Given the description of an element on the screen output the (x, y) to click on. 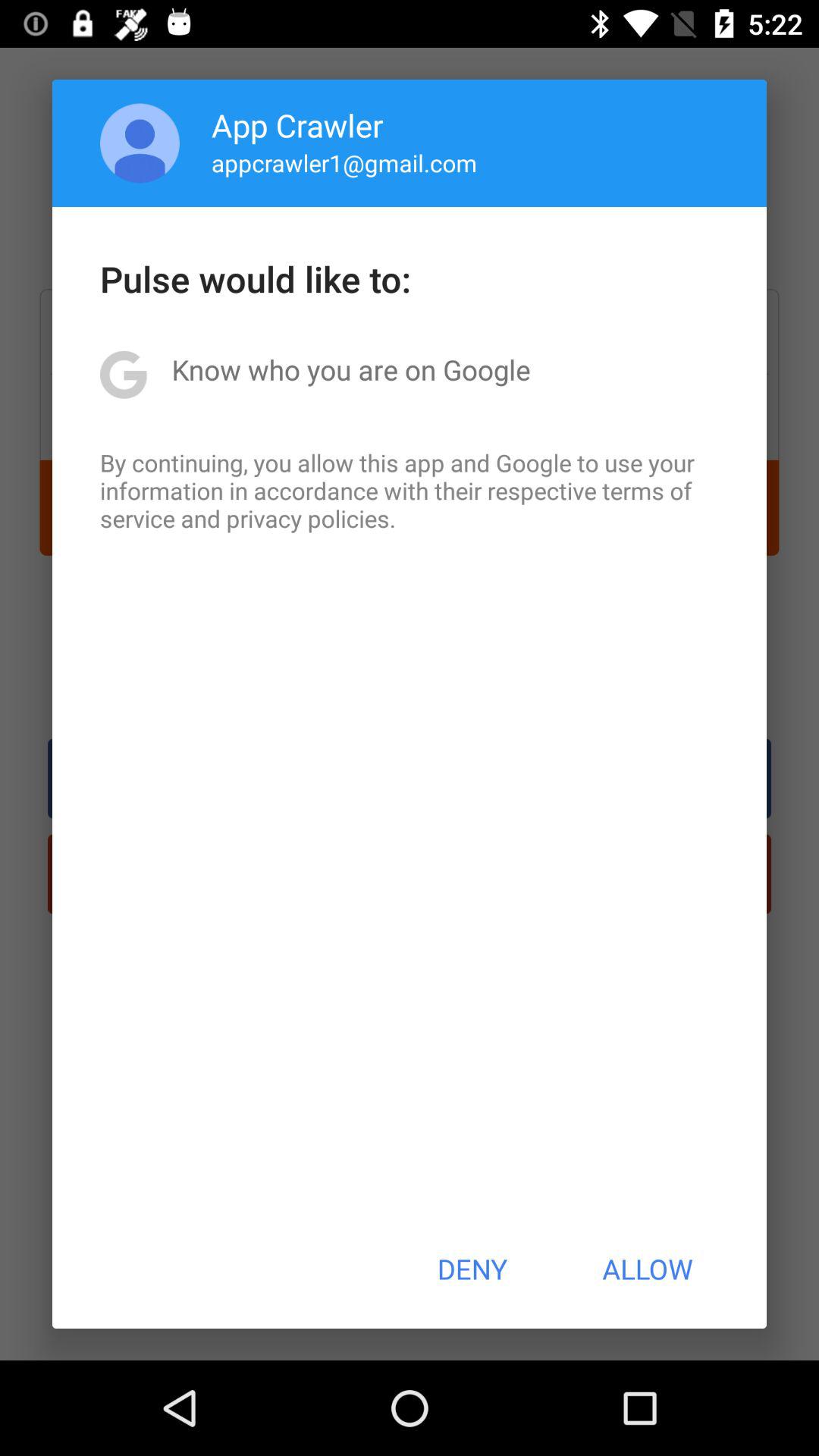
scroll to the know who you (350, 369)
